Given the description of an element on the screen output the (x, y) to click on. 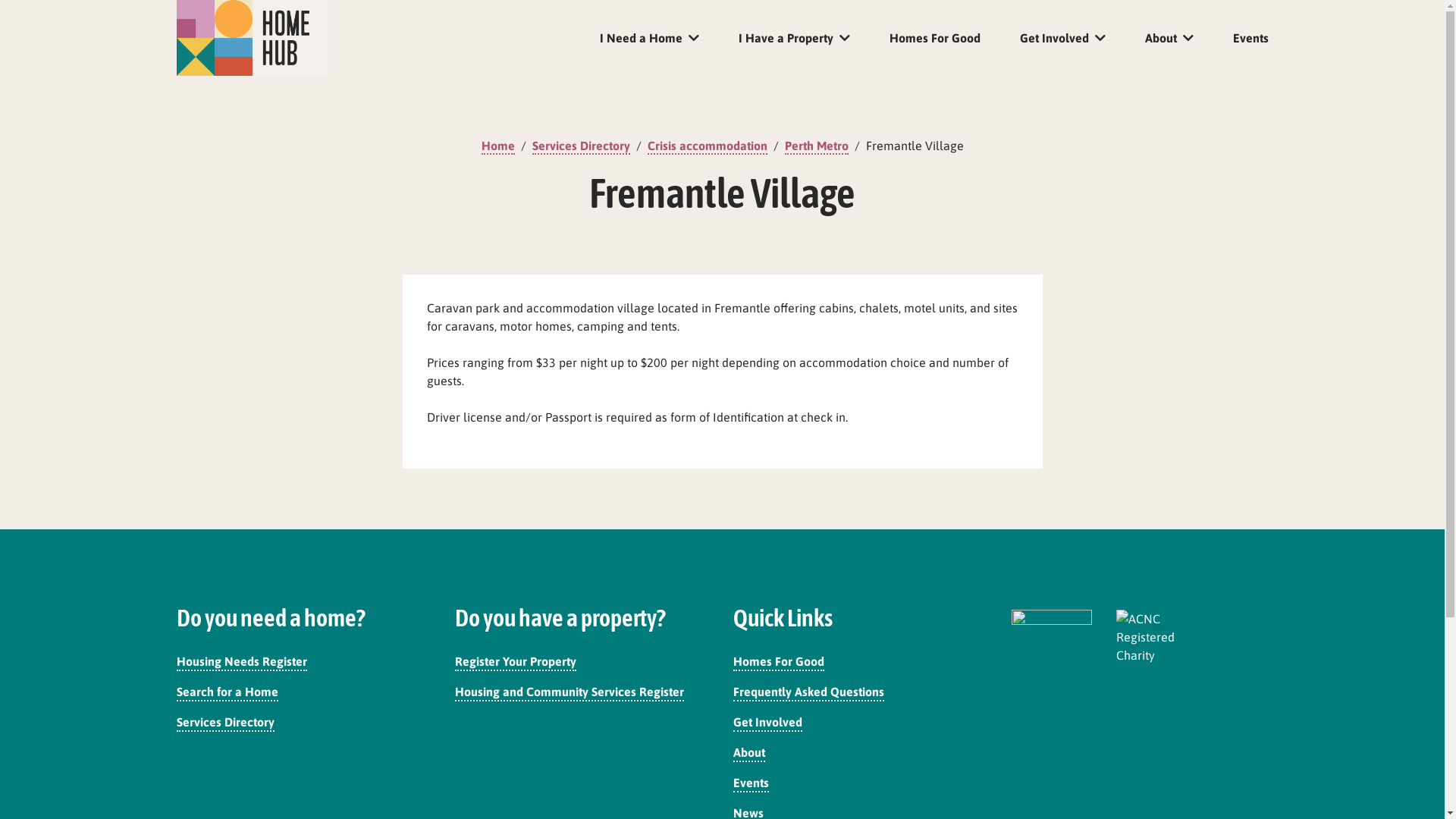
Get Involved Element type: text (1061, 38)
I Have a Property Element type: text (794, 38)
I Need a Home Element type: text (648, 38)
Events Element type: text (750, 783)
Homes For Good Element type: text (778, 662)
About Element type: text (1169, 38)
Housing Needs Register Element type: text (240, 662)
Get Involved Element type: text (767, 723)
Services Directory Element type: text (581, 146)
Housing and Community Services Register Element type: text (569, 692)
Home Element type: text (497, 146)
Register Your Property Element type: text (515, 662)
Events Element type: text (1250, 38)
Search for a Home Element type: text (226, 692)
Perth Metro Element type: text (815, 146)
Frequently Asked Questions Element type: text (808, 692)
Home Hub Element type: hover (251, 38)
Crisis accommodation Element type: text (707, 146)
About Element type: text (749, 753)
Homes For Good Element type: text (933, 38)
Services Directory Element type: text (224, 723)
